Given the description of an element on the screen output the (x, y) to click on. 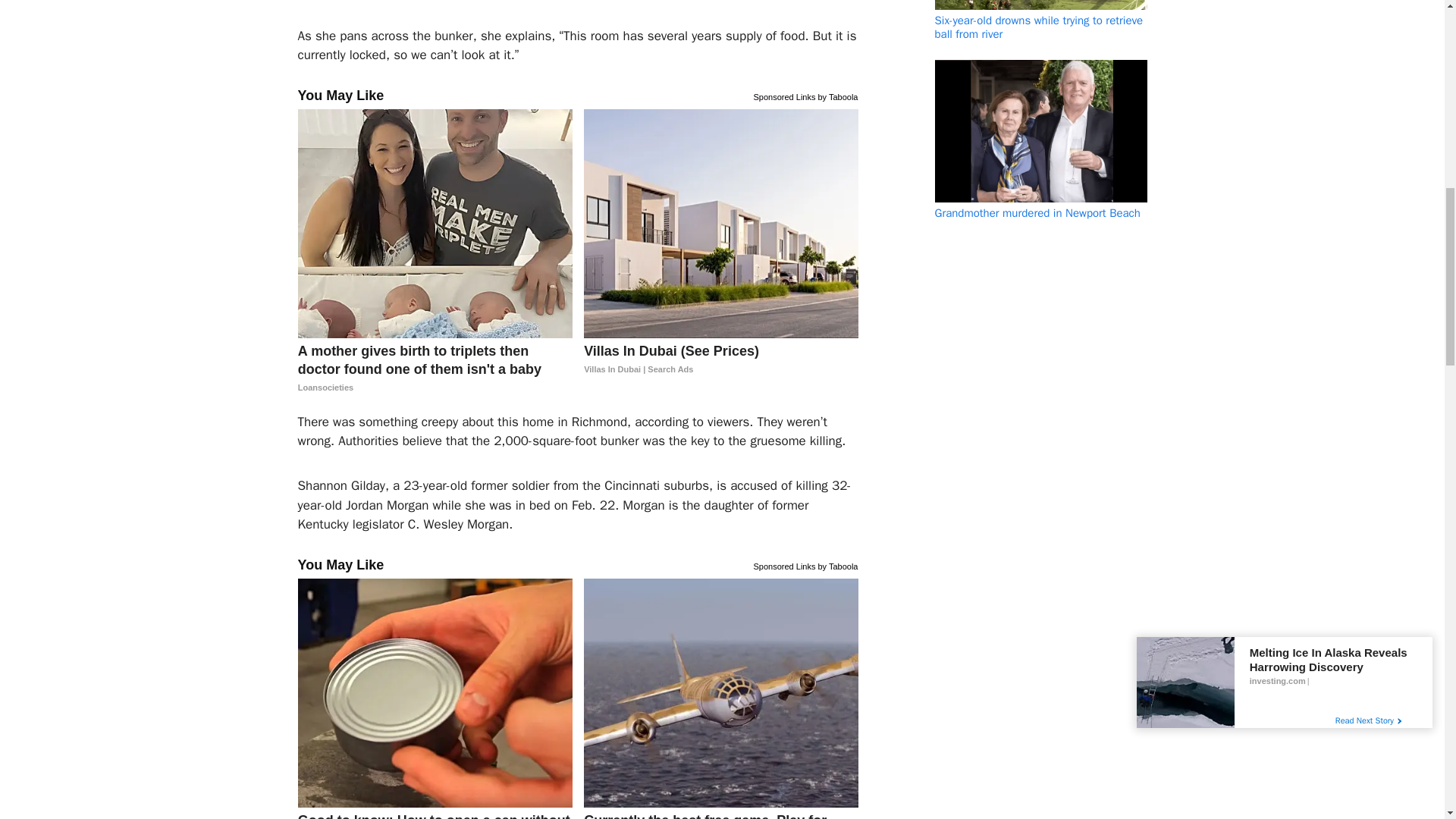
by Taboola (836, 564)
by Taboola (836, 95)
Sponsored Links (784, 564)
Sponsored Links (784, 95)
